Given the description of an element on the screen output the (x, y) to click on. 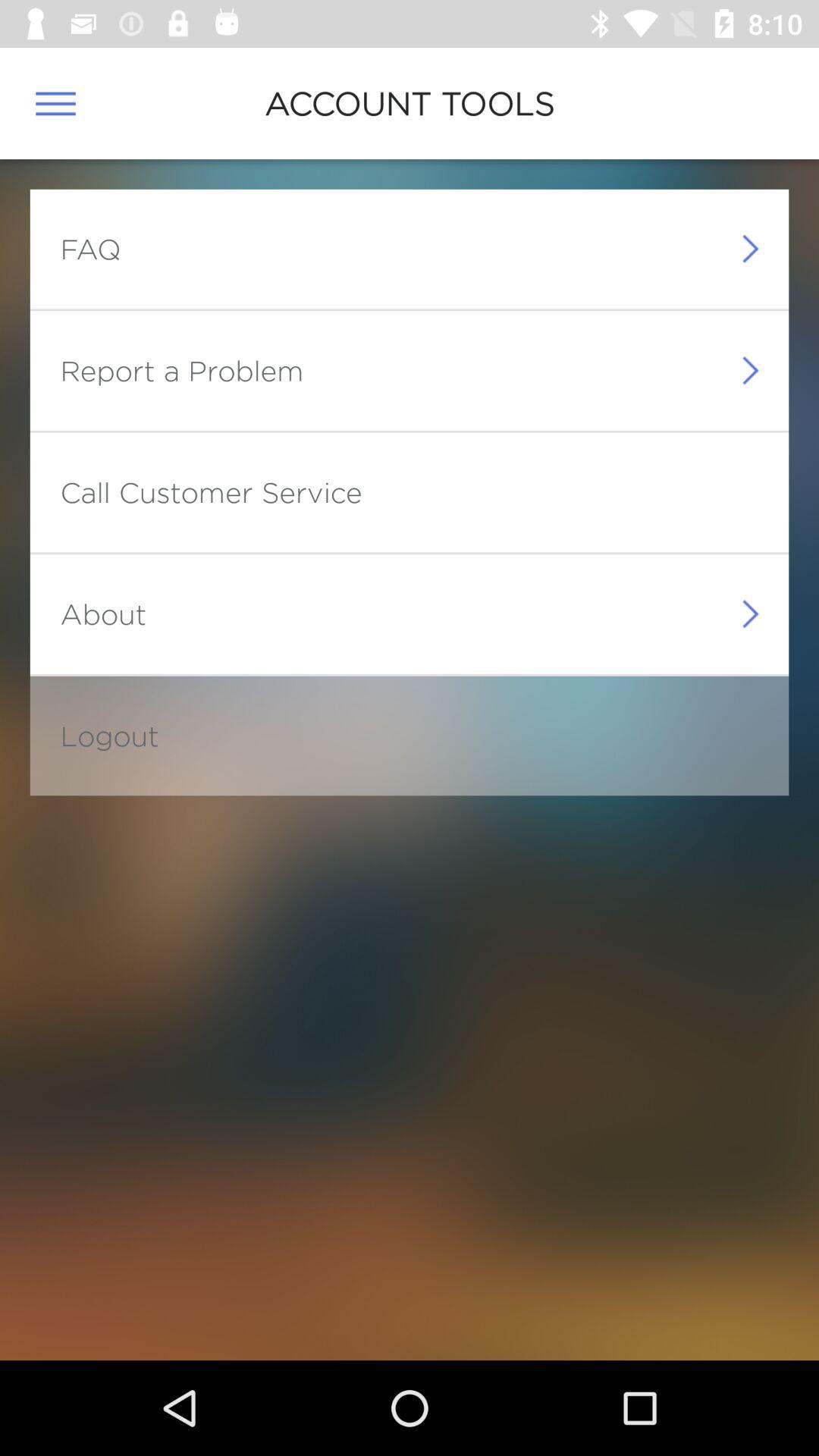
select the call customer service item (211, 491)
